Given the description of an element on the screen output the (x, y) to click on. 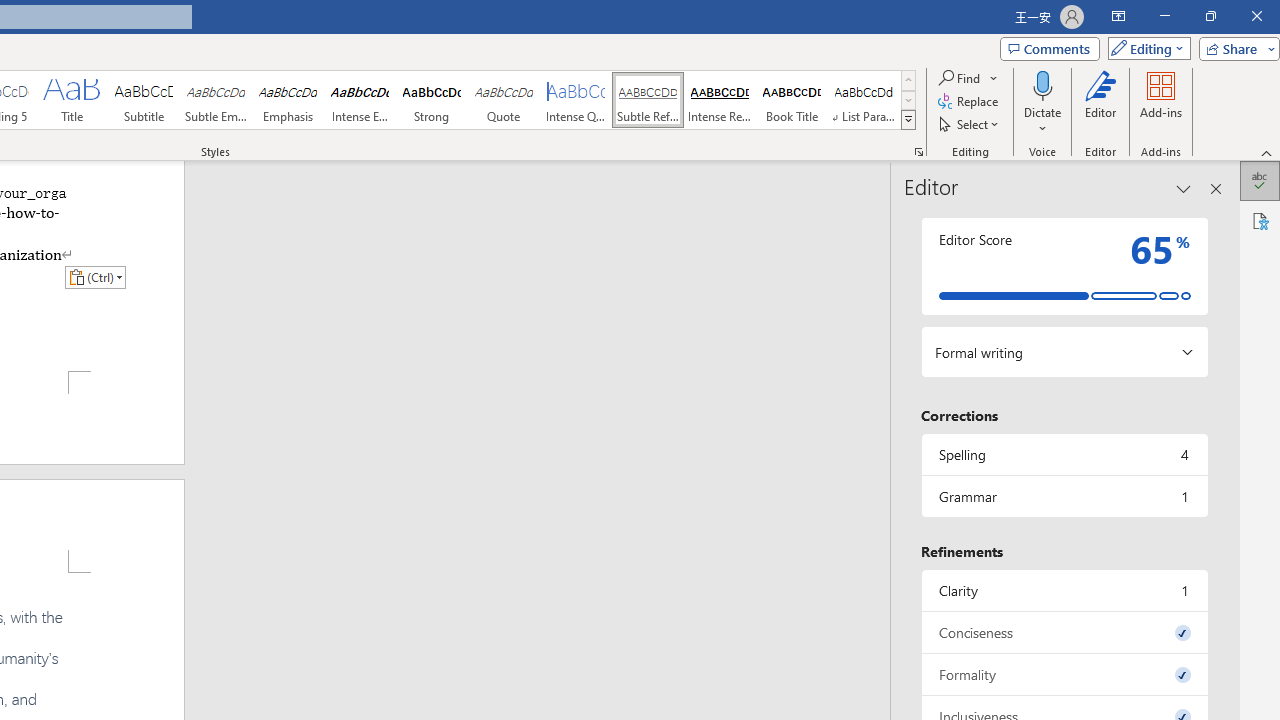
Formality, 0 issues. Press space or enter to review items. (1064, 673)
Conciseness, 0 issues. Press space or enter to review items. (1064, 632)
Spelling, 4 issues. Press space or enter to review items. (1064, 454)
